Given the description of an element on the screen output the (x, y) to click on. 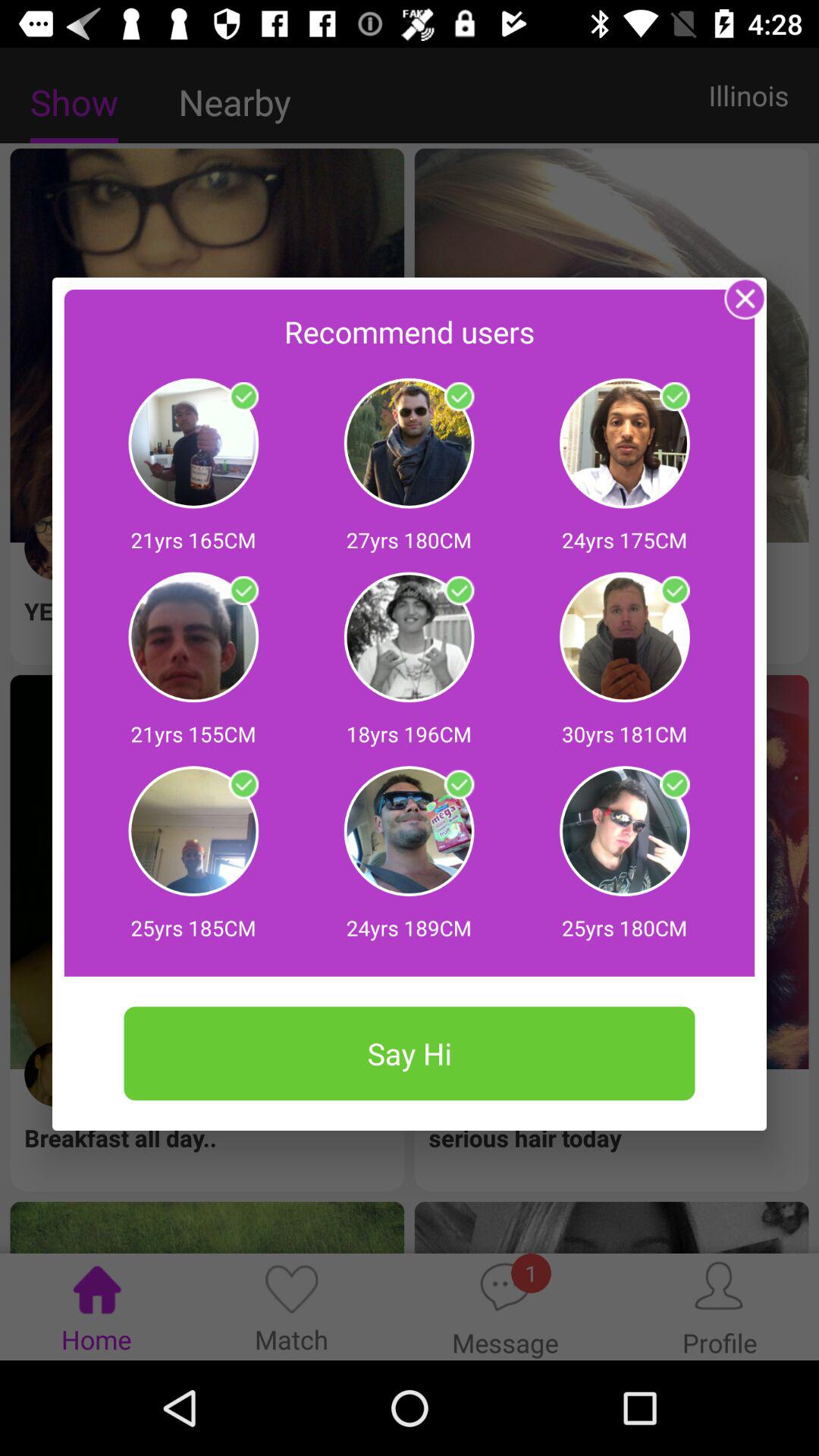
choose middle left user number 4 of 9 (243, 590)
